Given the description of an element on the screen output the (x, y) to click on. 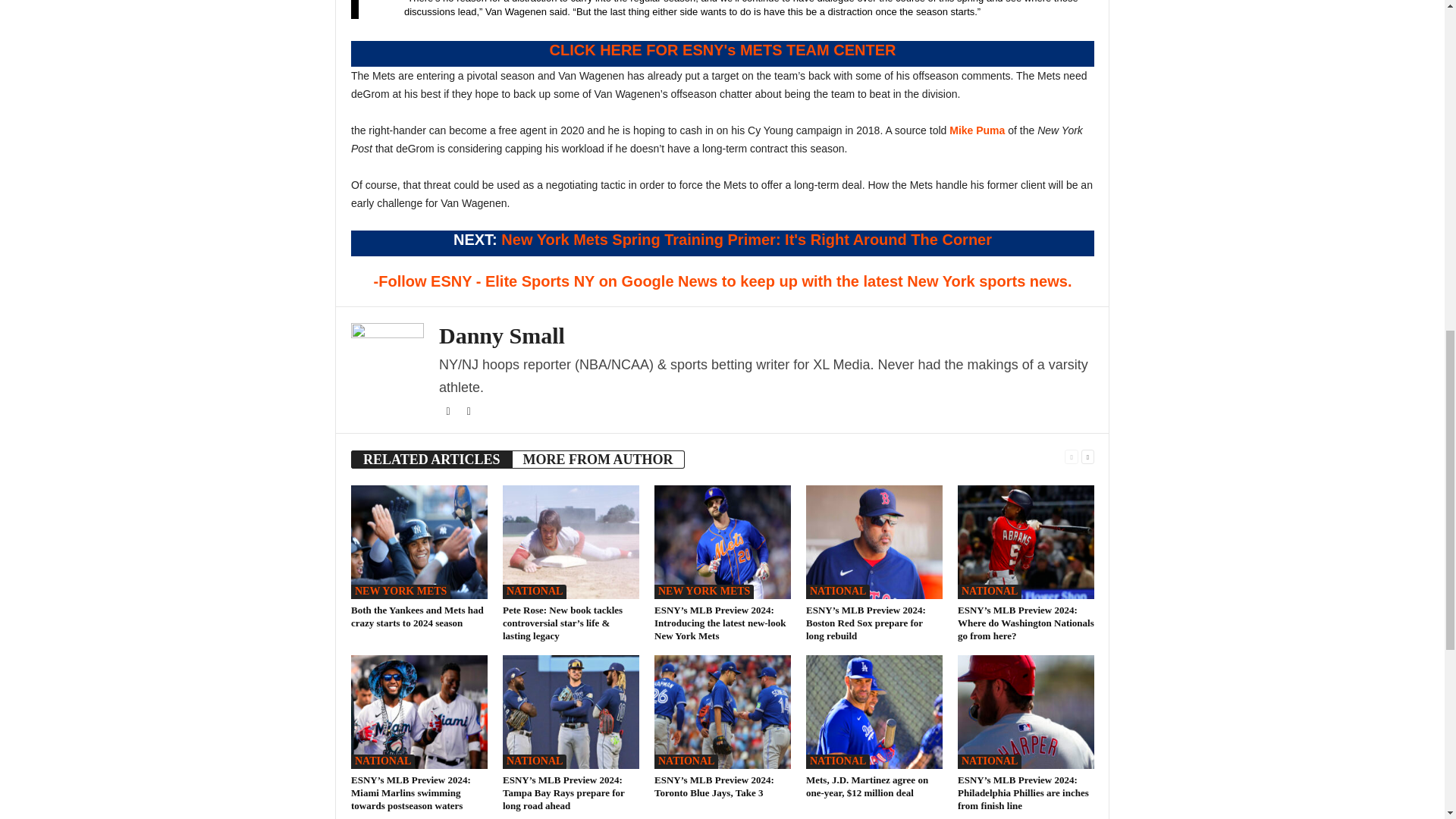
Both the Yankees and Mets had crazy starts to 2024 season (416, 616)
Both the Yankees and Mets had crazy starts to 2024 season (418, 541)
Twitter (449, 411)
Linkedin (468, 411)
